Given the description of an element on the screen output the (x, y) to click on. 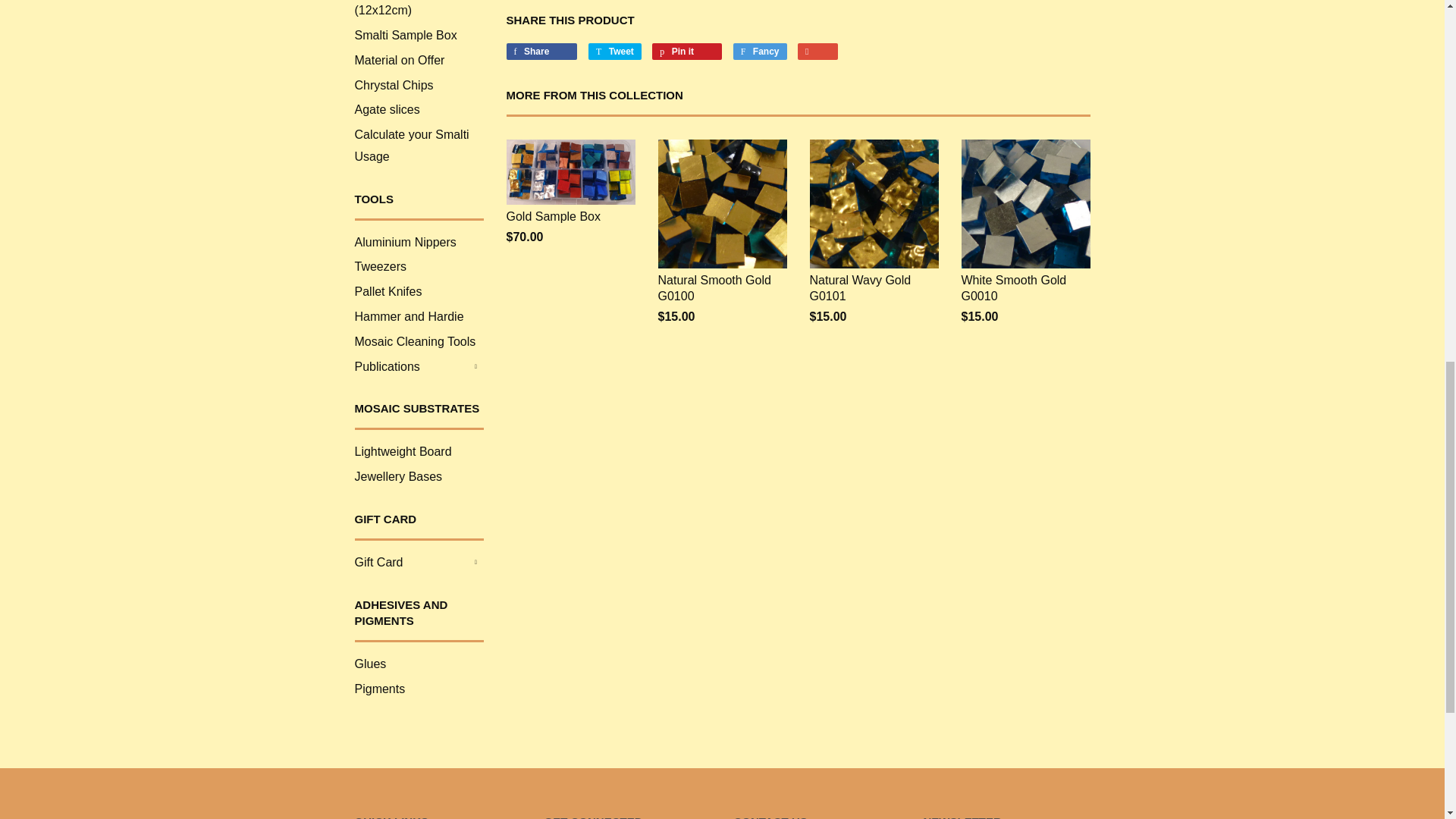
Share on Facebook (542, 51)
Tweet on Twitter (615, 51)
Add to Fancy (760, 51)
Pin on Pinterest (687, 51)
